Given the description of an element on the screen output the (x, y) to click on. 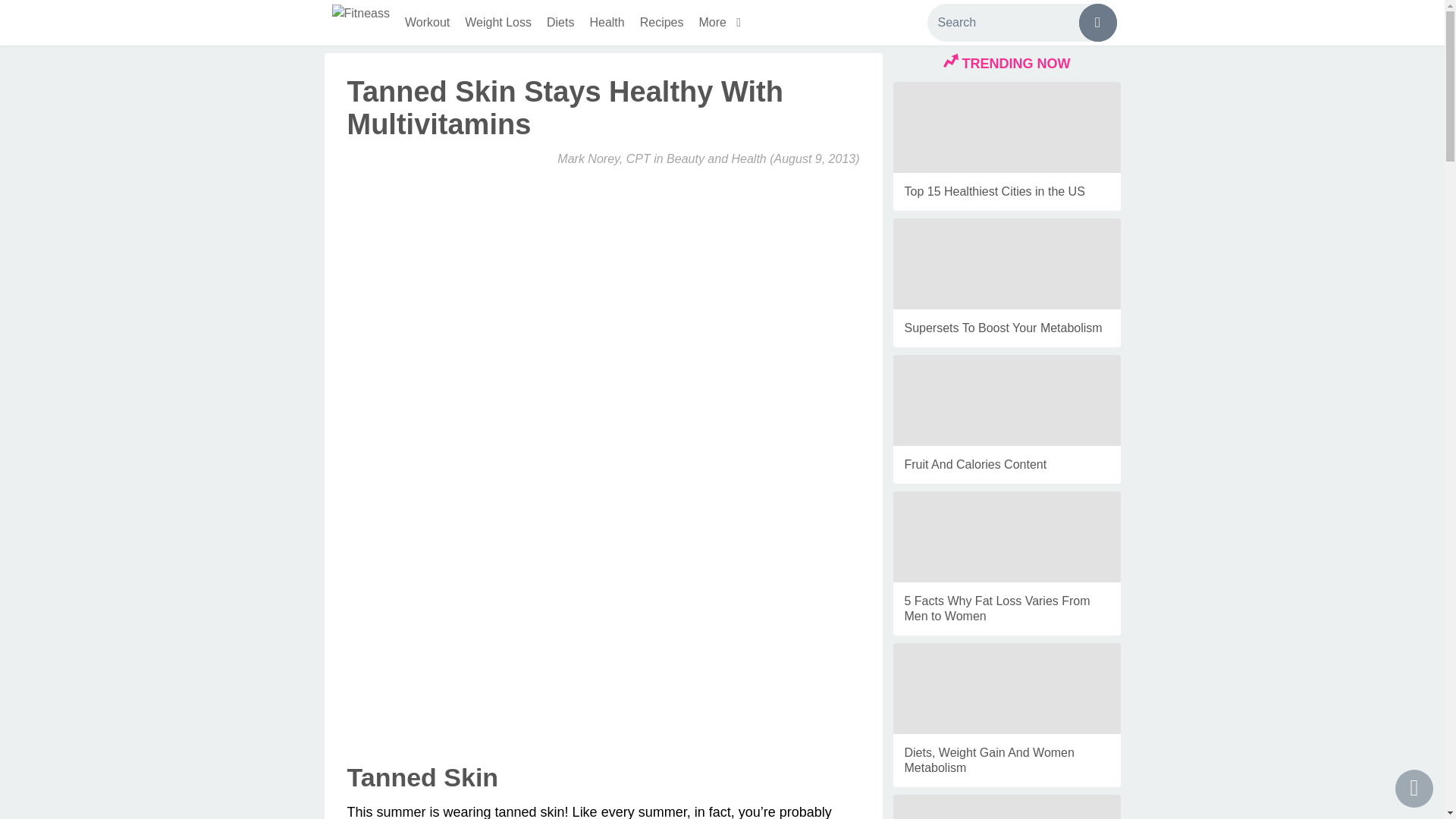
Search (1021, 22)
Diets (559, 22)
Weight Loss (497, 22)
Mark Norey, CPT (603, 158)
Workout (427, 22)
Health (605, 22)
Beauty (685, 158)
Recipes (661, 22)
Health (747, 158)
Posts by Mark Norey, CPT (603, 158)
More (723, 22)
